Given the description of an element on the screen output the (x, y) to click on. 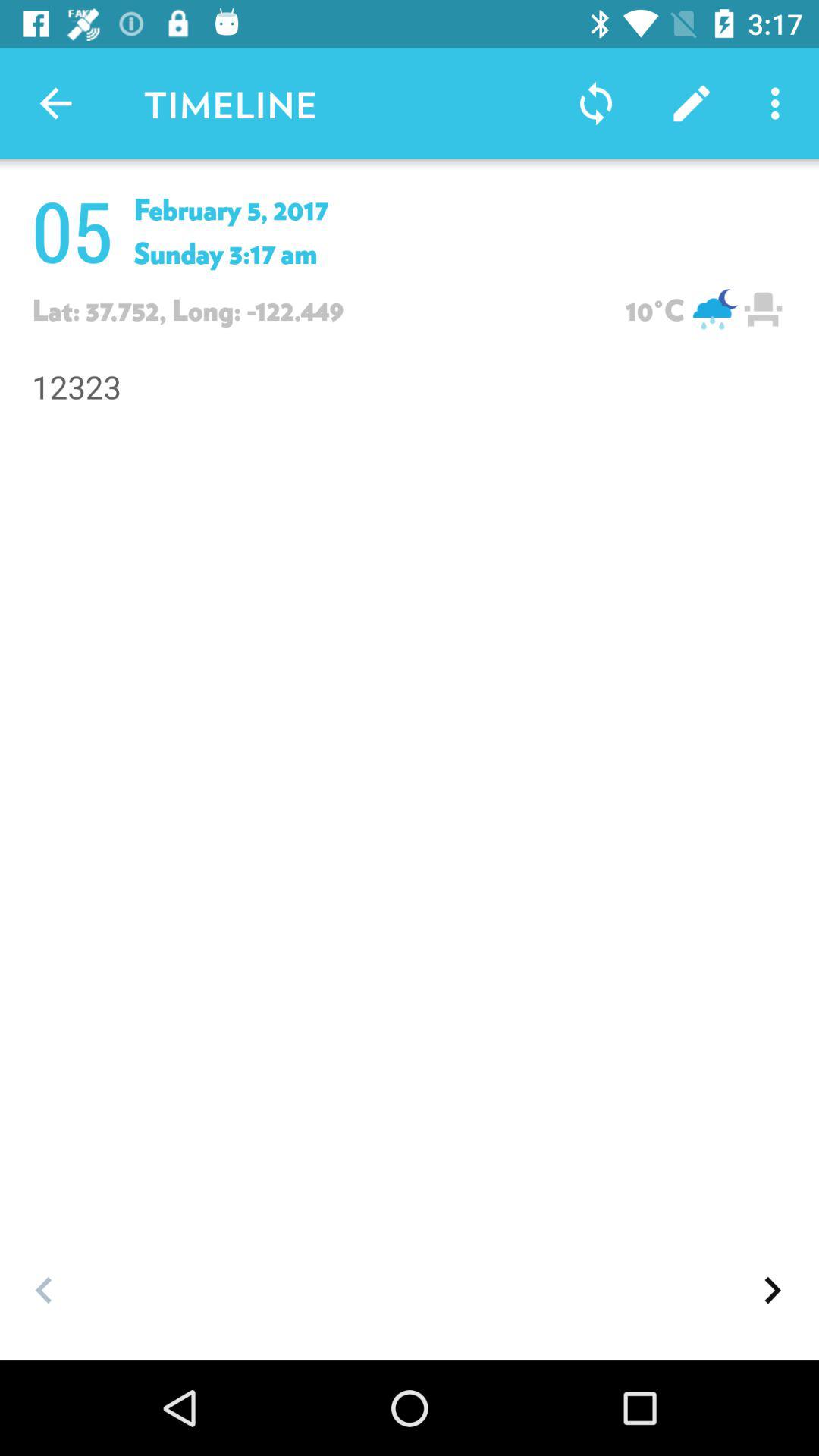
click the sync on the right side hand (595, 103)
select the icon which is below more option (763, 309)
select lat37752long122449 which is above 12323 on the page (316, 308)
